Given the description of an element on the screen output the (x, y) to click on. 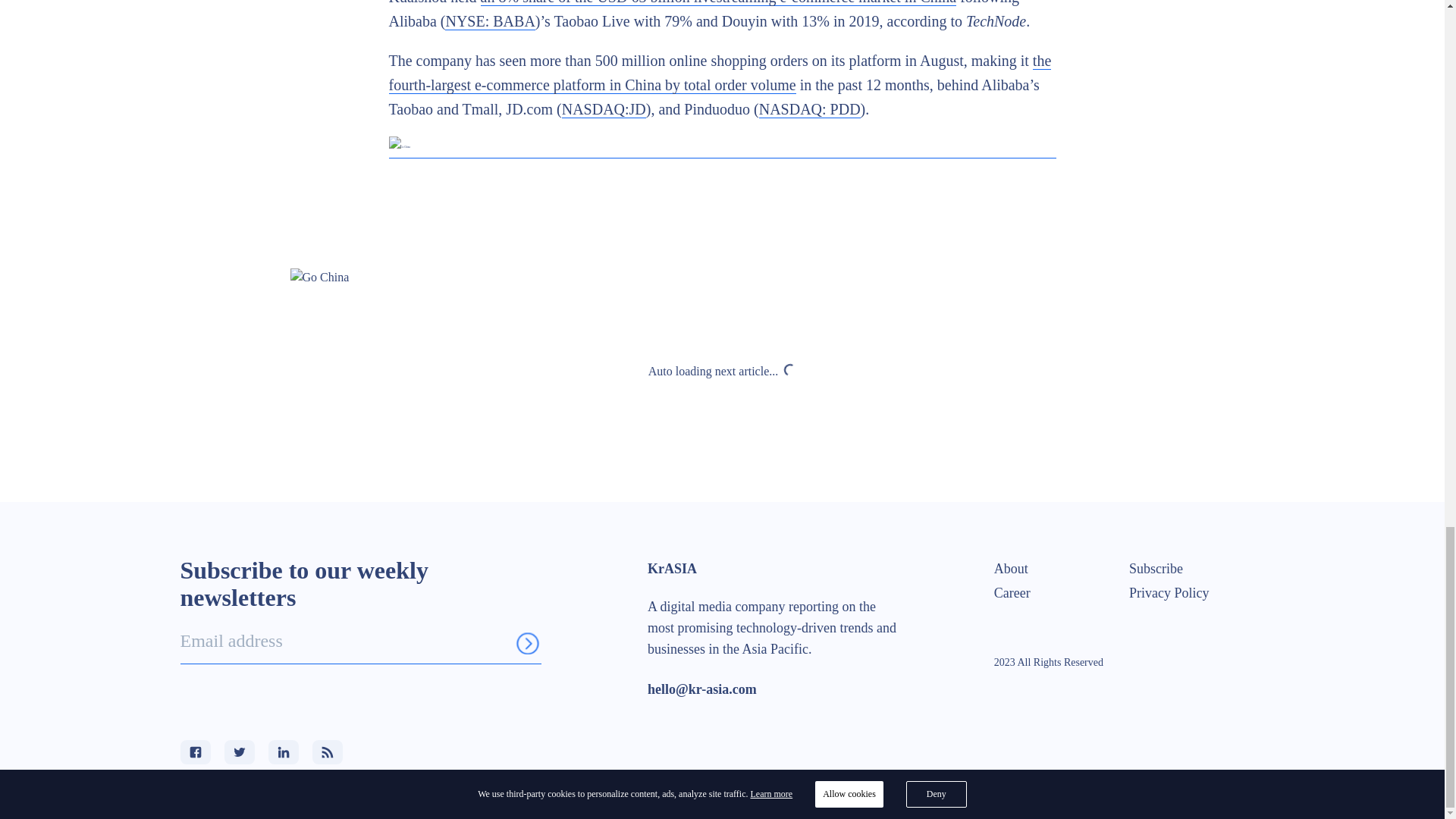
NYSE: BABA (489, 21)
NASDAQ: PDD (809, 108)
Go China (721, 147)
Go China (721, 277)
NASDAQ:JD (604, 108)
